Given the description of an element on the screen output the (x, y) to click on. 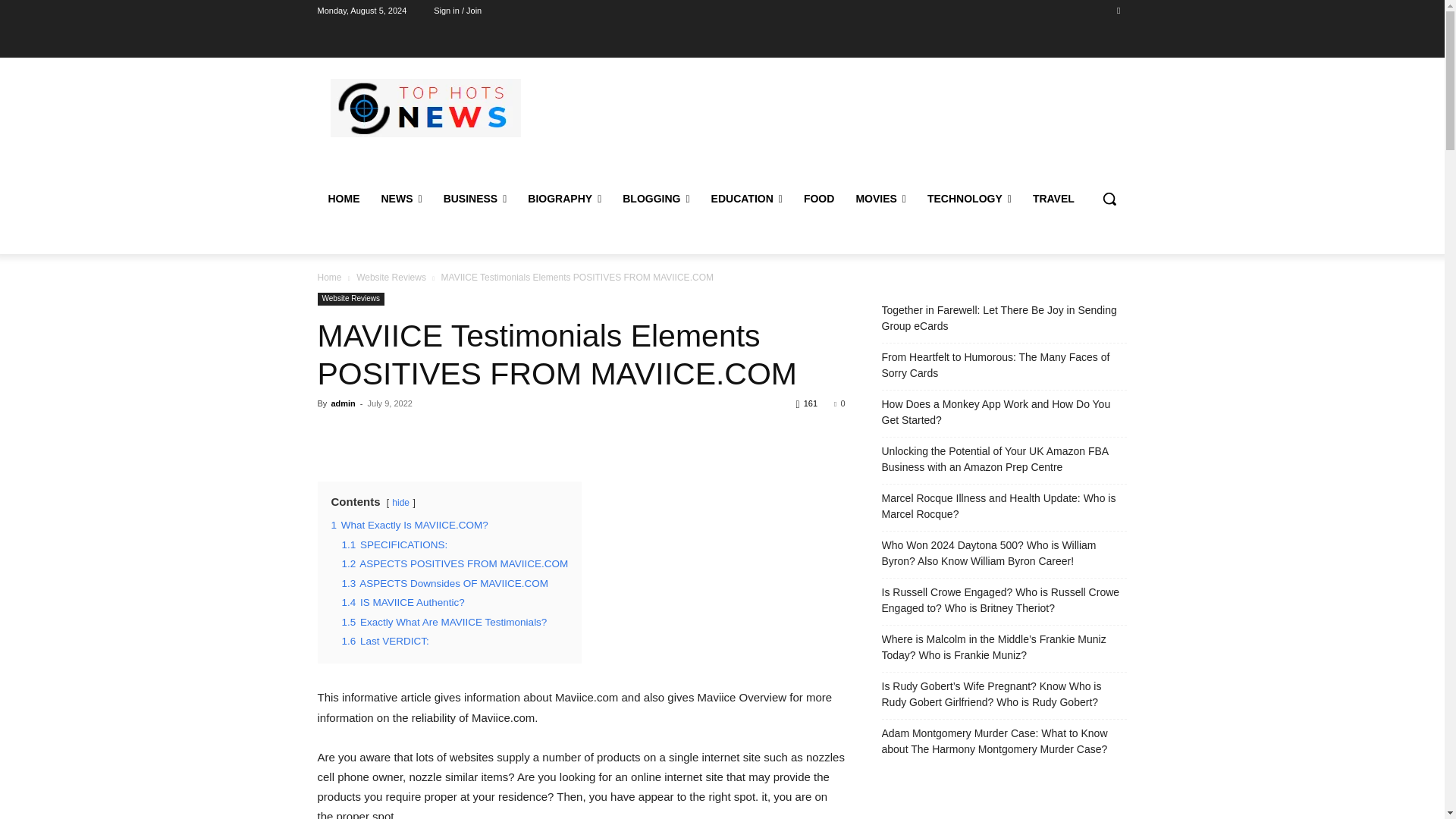
Facebook (1117, 9)
View all posts in Website Reviews (391, 276)
